Given the description of an element on the screen output the (x, y) to click on. 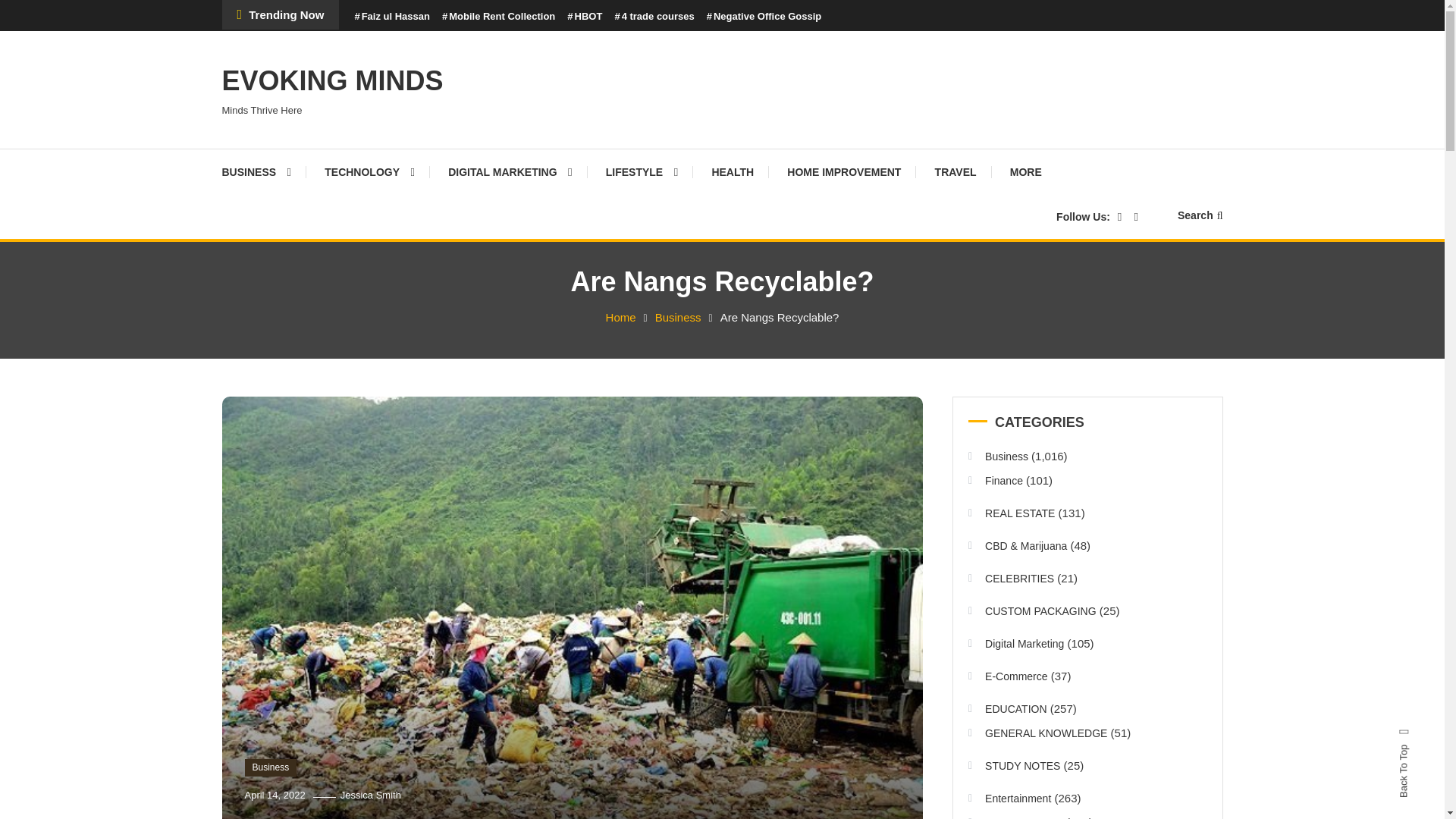
Mobile Rent Collection (498, 16)
BUSINESS (263, 171)
LIFESTYLE (642, 171)
DIGITAL MARKETING (509, 171)
4 trade courses (654, 16)
HOME IMPROVEMENT (843, 171)
TRAVEL (955, 171)
Negative Office Gossip (764, 16)
HBOT (584, 16)
Home (620, 317)
